Given the description of an element on the screen output the (x, y) to click on. 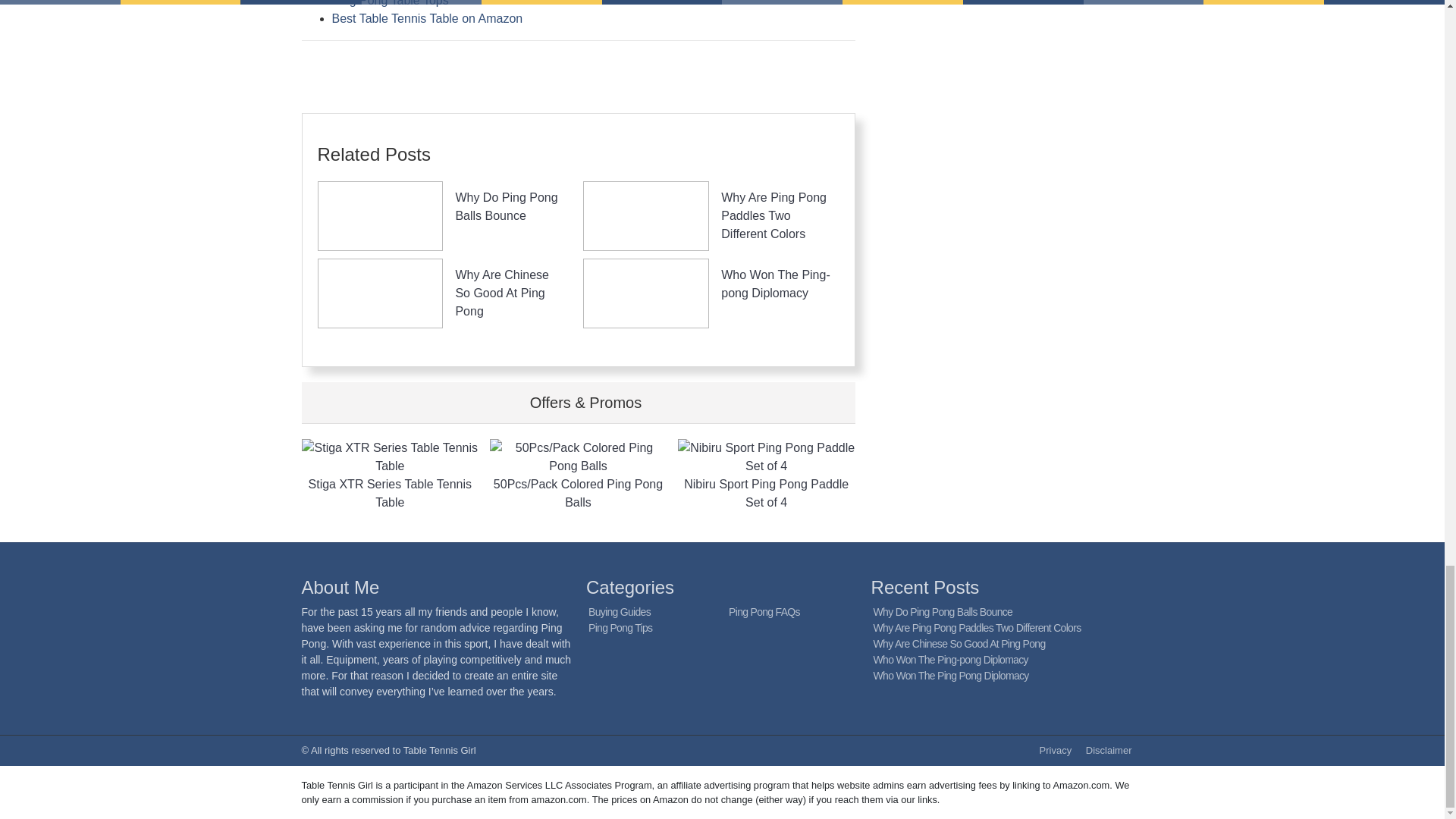
Nibiru Sport Ping Pong Paddle Set of 4 (767, 474)
Who Won The Ping-pong Diplomacy (774, 283)
Buying Guides (619, 612)
Best Table Tennis Table on Amazon (426, 18)
Why Do Ping Pong Balls Bounce (943, 612)
Ping Pong Table Tops (389, 3)
Why Are Chinese So Good At Ping Pong (501, 292)
Who Won The Ping-pong Diplomacy (774, 283)
Why Are Chinese So Good At Ping Pong (959, 644)
Why Do Ping Pong Balls Bounce (505, 205)
Why Do Ping Pong Balls Bounce (505, 205)
Stiga XTR Series Table Tennis Table (390, 474)
Ping Pong FAQs (764, 612)
Why Are Ping Pong Paddles Two Different Colors (977, 627)
Why Are Ping Pong Paddles Two Different Colors (773, 215)
